Given the description of an element on the screen output the (x, y) to click on. 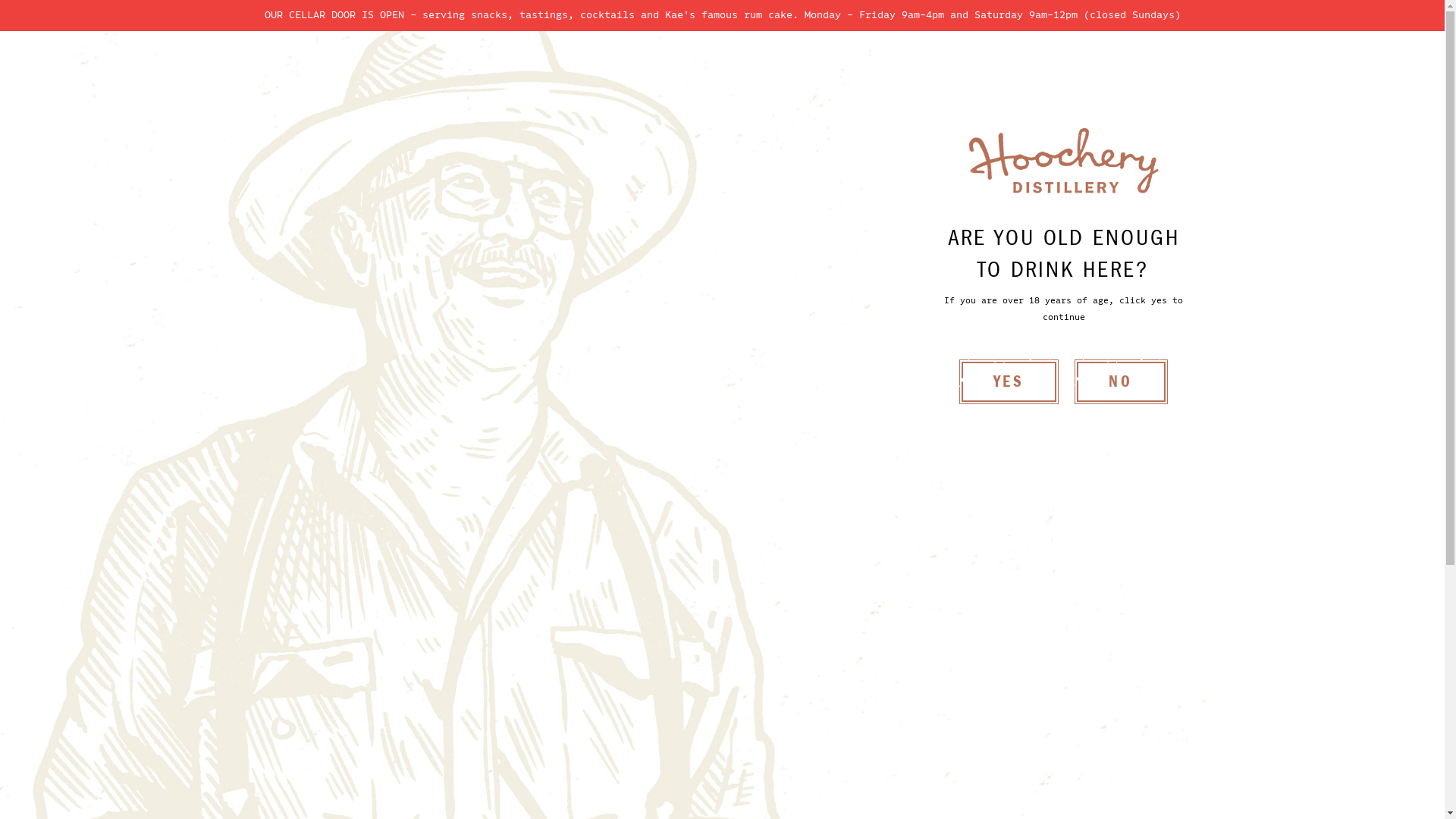
HOME Element type: text (558, 71)
NO Element type: text (1120, 381)
View your shopping cart Element type: hover (1190, 71)
YES Element type: text (1008, 381)
ABOUT Element type: text (724, 71)
VISIT Element type: text (973, 730)
CONTACT Element type: text (1059, 730)
Return to shop Element type: text (409, 218)
ABOUT Element type: text (897, 730)
CONTACT Element type: text (912, 71)
VISIT Element type: text (814, 71)
SHOP Element type: text (638, 71)
HOME Element type: text (754, 730)
Subscribe Element type: text (873, 480)
SHOP Element type: text (824, 730)
